Given the description of an element on the screen output the (x, y) to click on. 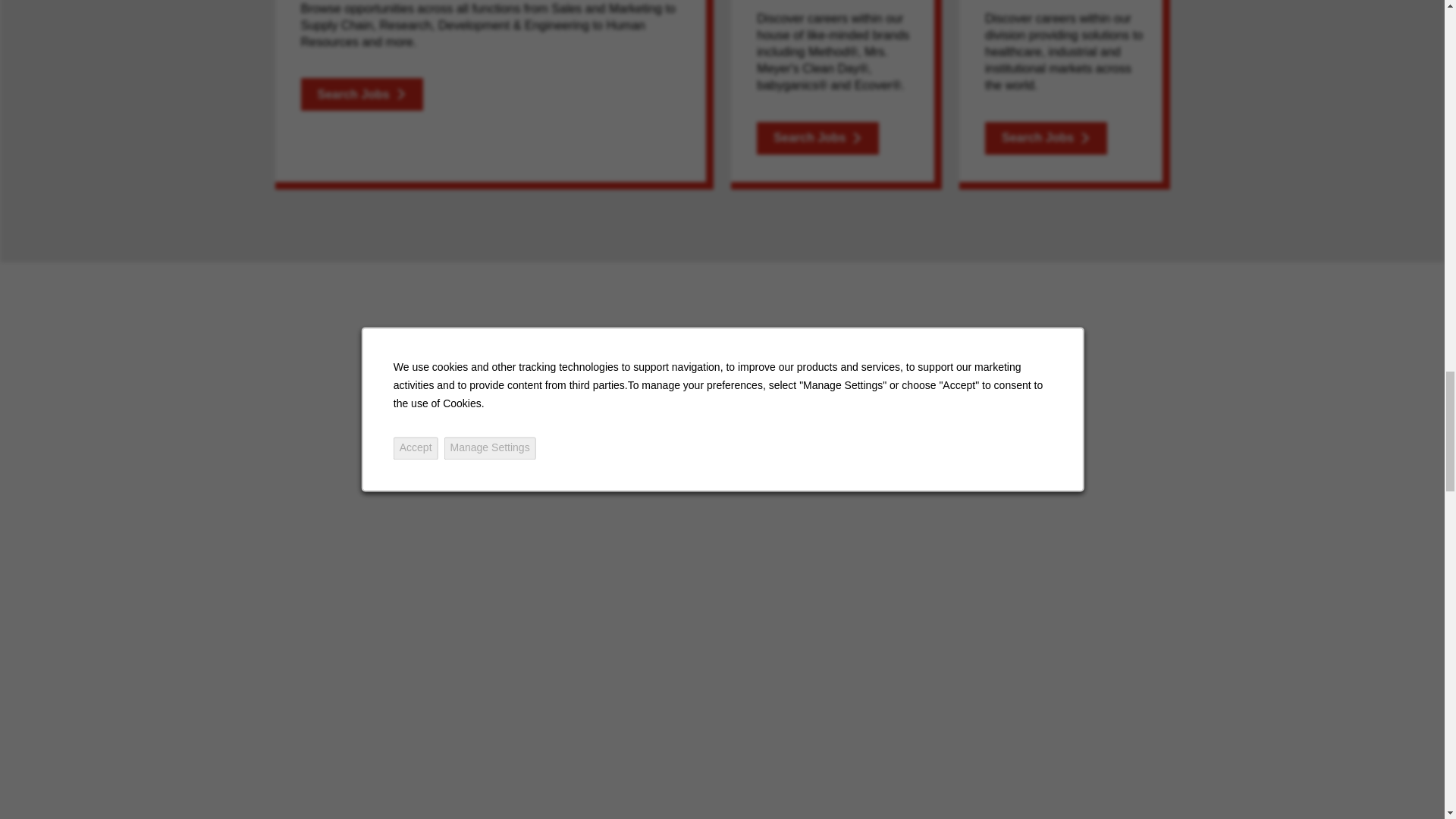
Search Jobs (360, 93)
Search Jobs (818, 138)
Search Jobs (1045, 138)
